Given the description of an element on the screen output the (x, y) to click on. 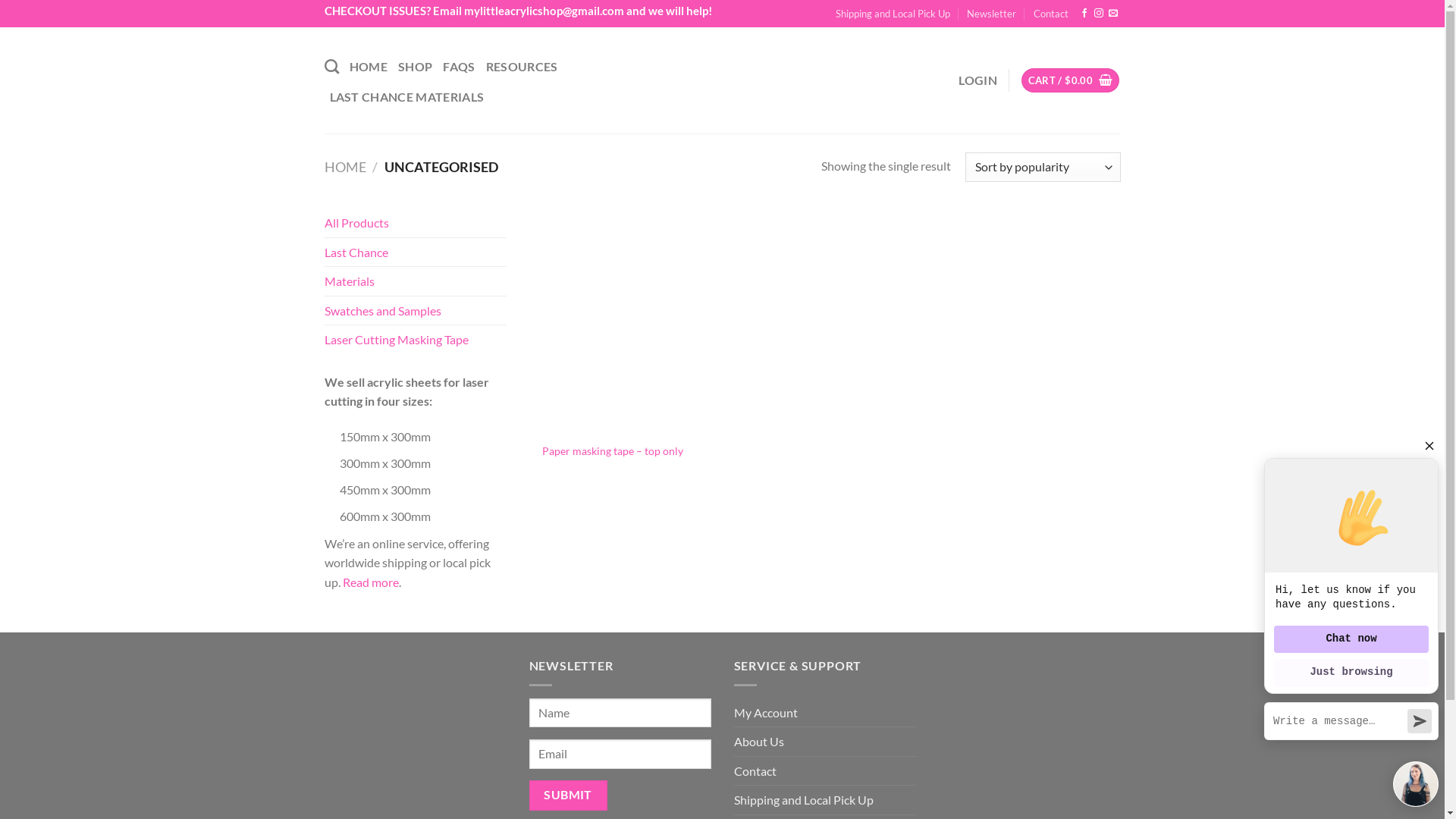
CART / $0.00 Element type: text (1070, 80)
Contact Element type: text (755, 770)
Newsletter Element type: text (991, 13)
Last Chance Element type: text (356, 252)
FAQS Element type: text (458, 66)
Follow on Instagram Element type: hover (1098, 13)
Submit Element type: text (568, 794)
HOME Element type: text (368, 66)
Contact Element type: text (1050, 13)
Swatches and Samples Element type: text (382, 310)
Shipping and Local Pick Up Element type: text (892, 13)
Send us an email Element type: hover (1112, 13)
HOME Element type: text (345, 166)
Follow on Facebook Element type: hover (1083, 13)
My Account Element type: text (765, 712)
All Products Element type: text (356, 222)
LOGIN Element type: text (977, 80)
Read more Element type: text (370, 581)
Shipping and Local Pick Up Element type: text (803, 799)
RESOURCES Element type: text (522, 66)
SHOP Element type: text (415, 66)
About Us Element type: text (759, 741)
LAST CHANCE MATERIALS Element type: text (406, 96)
Materials Element type: text (349, 280)
Laser Cutting Masking Tape Element type: text (396, 339)
